Given the description of an element on the screen output the (x, y) to click on. 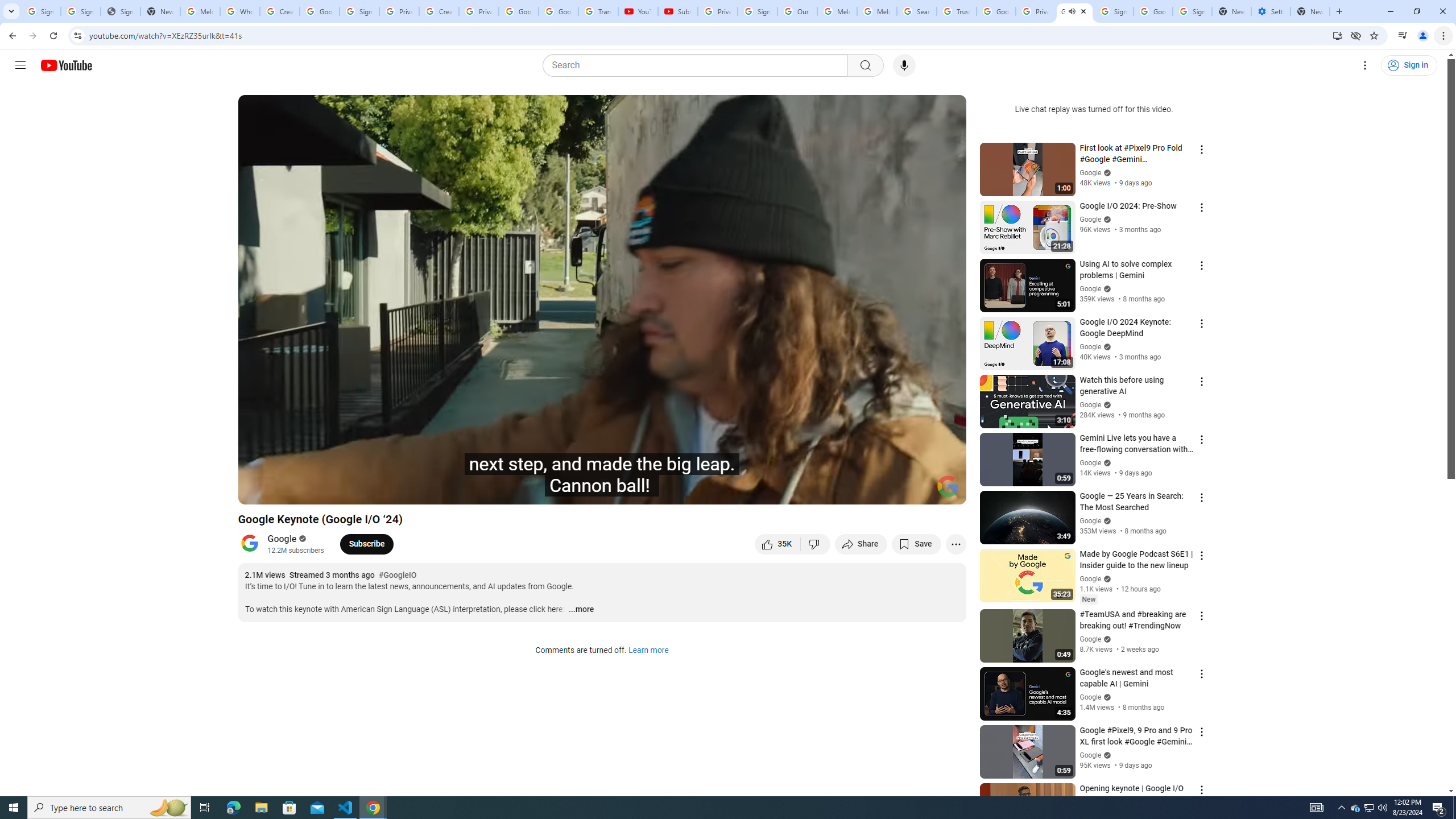
Google Account (557, 11)
Autoplay is on (808, 490)
YouTube (637, 11)
Sign in - Google Accounts (1113, 11)
Install YouTube (1336, 35)
